Given the description of an element on the screen output the (x, y) to click on. 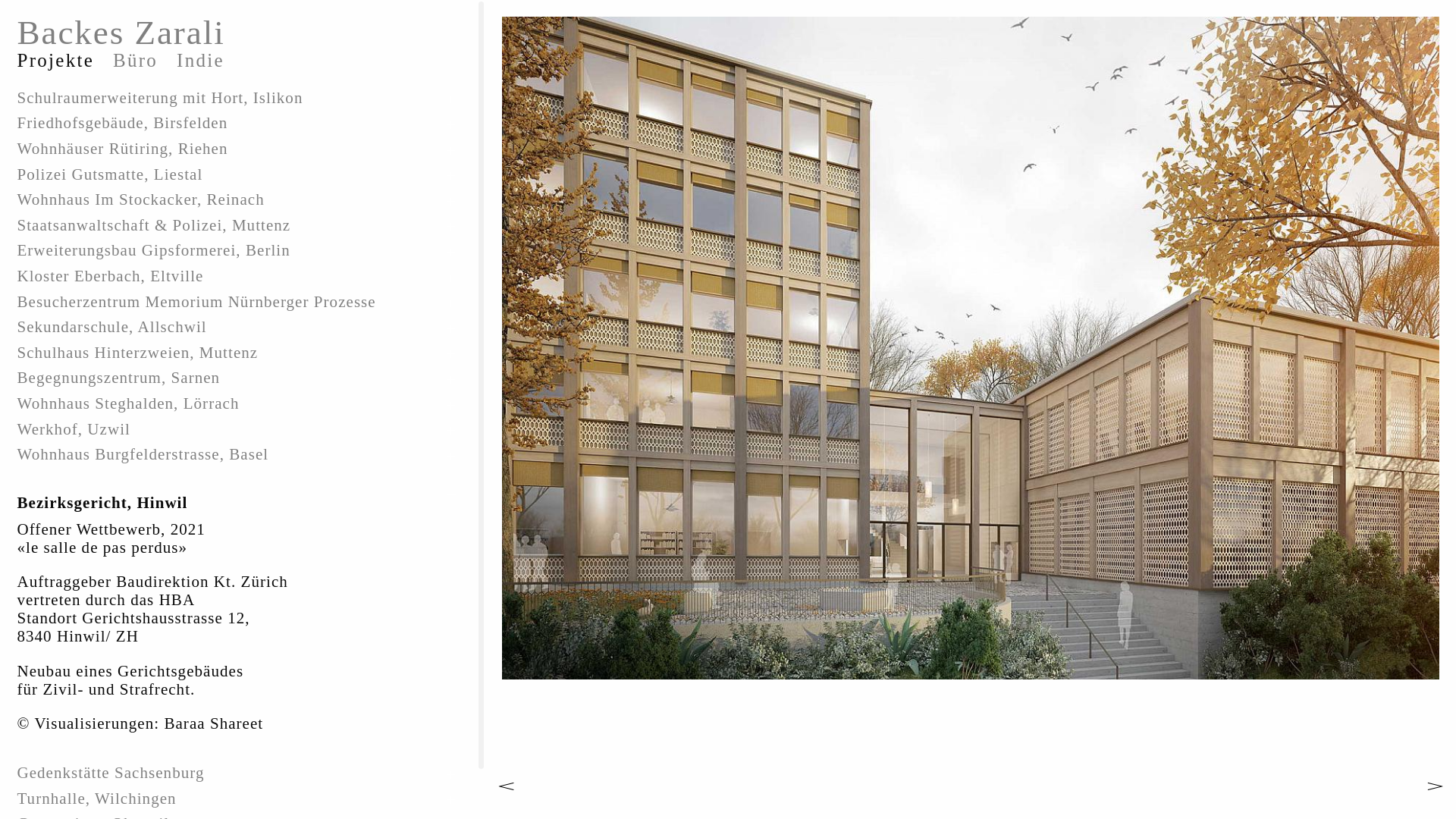
Projekte Element type: text (64, 60)
Wohnhaus Im Stockacker, Reinach Element type: text (241, 200)
Werkhof, Uzwil Element type: text (241, 429)
< Element type: text (484, 786)
Sekundarschule, Allschwil Element type: text (241, 327)
Polizei Gutsmatte, Liestal Element type: text (241, 174)
Schulhaus Hinterzweien, Muttenz Element type: text (241, 353)
Bezirksgericht, Hinwil Element type: text (241, 491)
Staatsanwaltschaft & Polizei, Muttenz Element type: text (241, 225)
Turnhalle, Wilchingen Element type: text (241, 798)
Wohnhaus Burgfelderstrasse, Basel Element type: text (241, 454)
Schulraumerweiterung mit Hort, Islikon Element type: text (241, 98)
Erweiterungsbau Gipsformerei, Berlin Element type: text (241, 250)
> Element type: text (1413, 786)
Kloster Eberbach, Eltville Element type: text (241, 276)
Begegnungszentrum, Sarnen Element type: text (241, 378)
Backes Zarali Element type: text (120, 38)
Indie Element type: text (209, 60)
<
> Element type: text (970, 352)
